Given the description of an element on the screen output the (x, y) to click on. 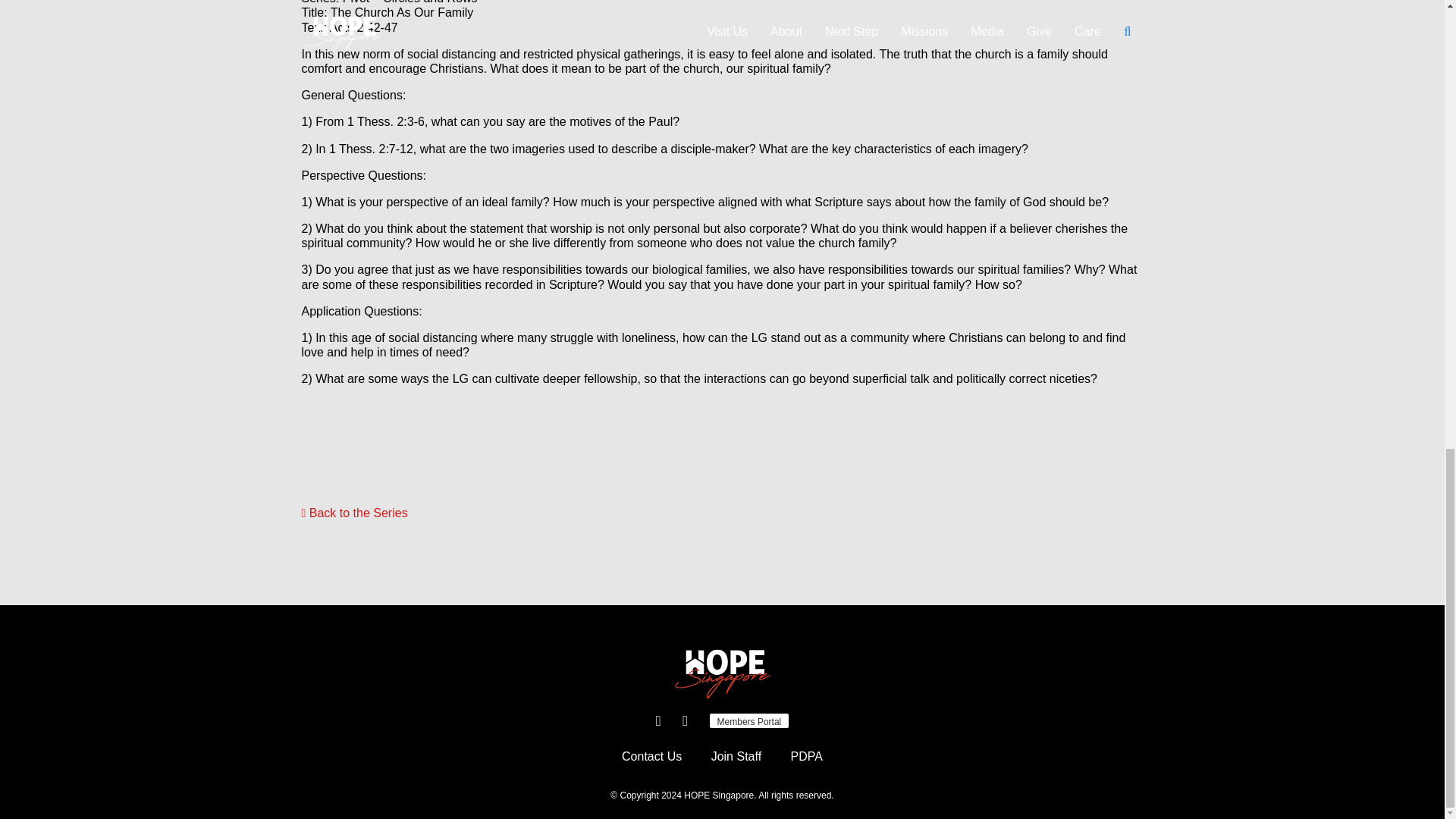
Back to the Series (354, 512)
Members Portal (749, 720)
